Given the description of an element on the screen output the (x, y) to click on. 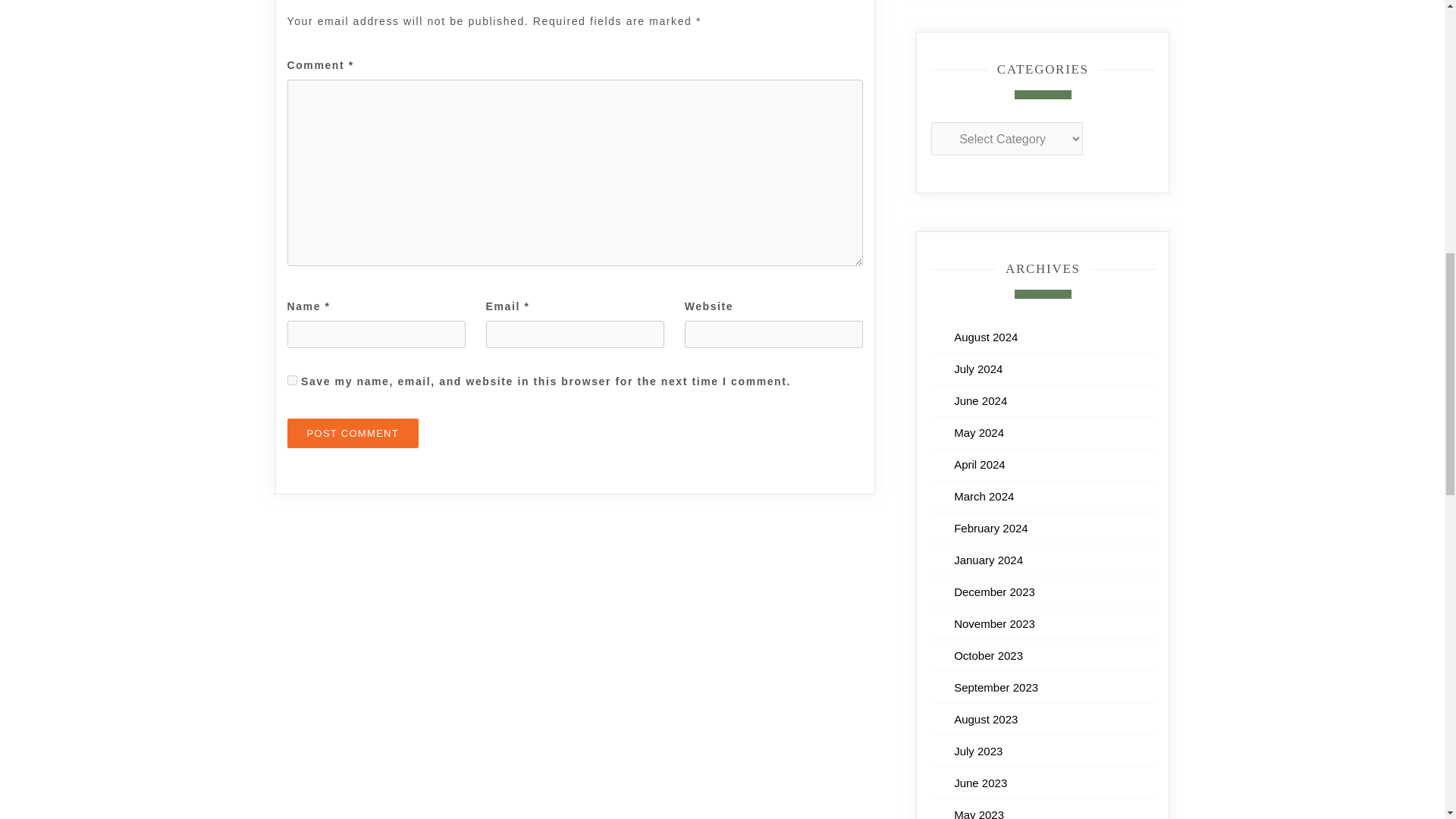
June 2023 (980, 782)
July 2024 (978, 368)
December 2023 (994, 591)
January 2024 (988, 559)
Post Comment (352, 432)
September 2023 (995, 686)
February 2024 (990, 527)
Post Comment (352, 432)
August 2023 (985, 718)
August 2024 (985, 336)
